Given the description of an element on the screen output the (x, y) to click on. 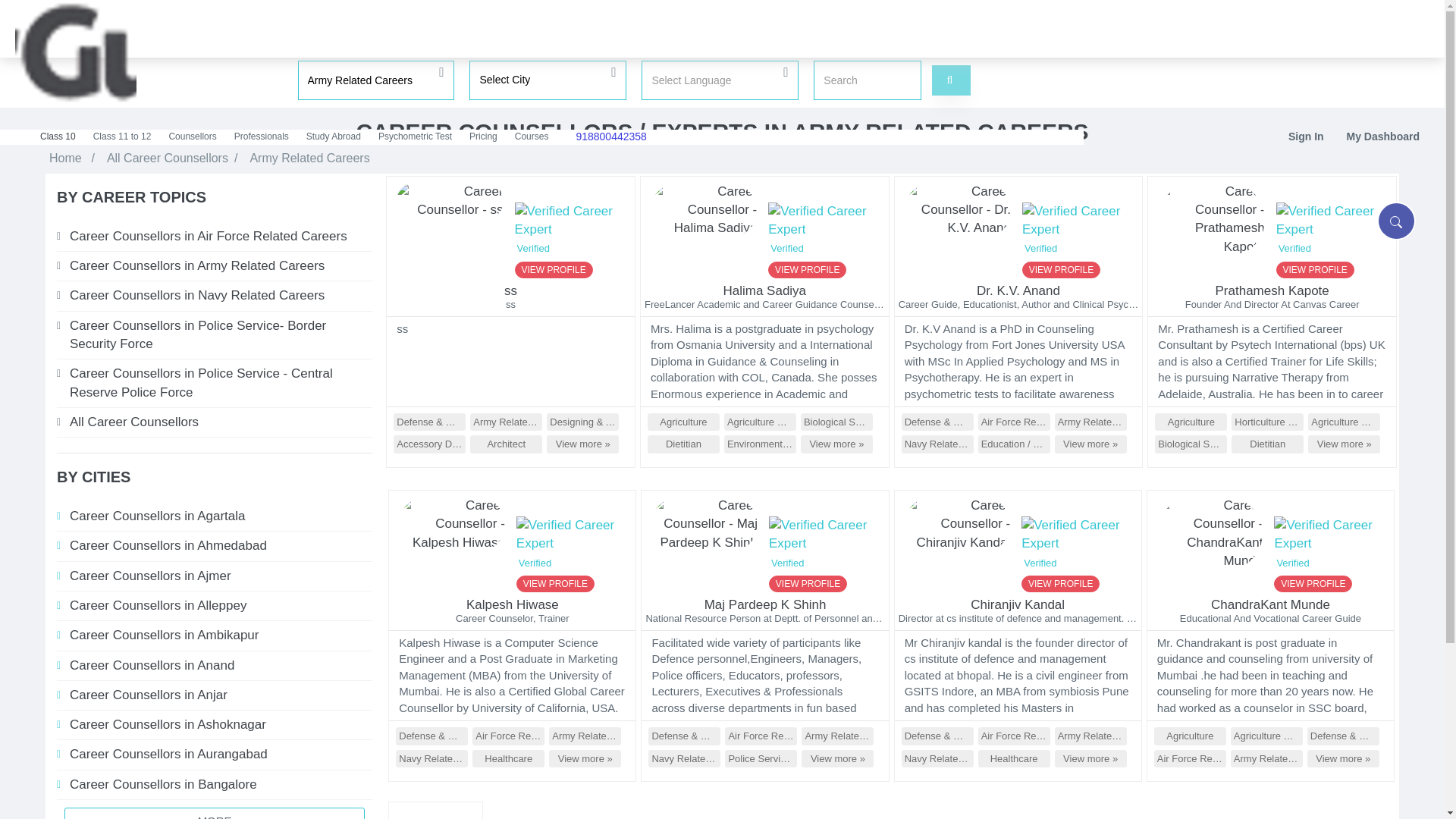
Career Counsellor - ss  (571, 229)
Dietitian (683, 443)
Architect (505, 443)
Army Related Careers (375, 79)
Agriculture (683, 422)
Psychometric Test (416, 136)
Counsellors (192, 136)
Career Counsellor - Halima Sadiya (825, 229)
Pricing (483, 136)
Career Counsellor - Halima Sadiya (703, 213)
